Given the description of an element on the screen output the (x, y) to click on. 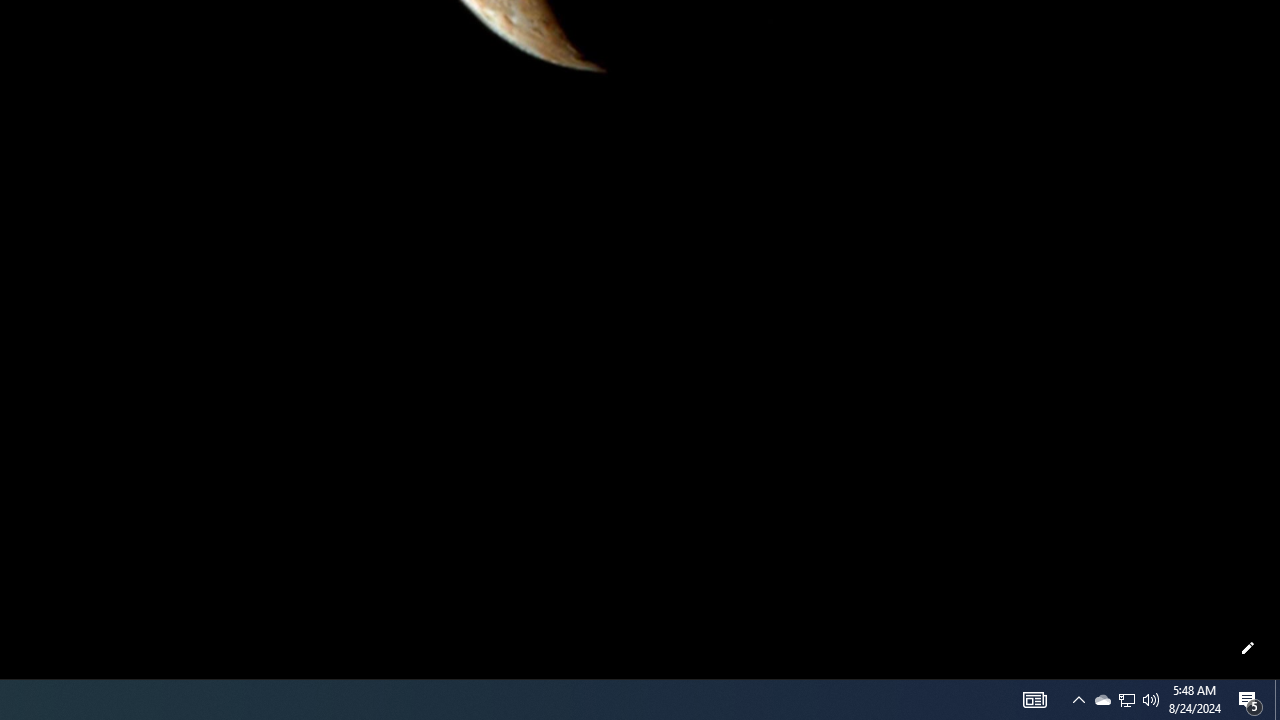
Customize this page (1247, 647)
